Given the description of an element on the screen output the (x, y) to click on. 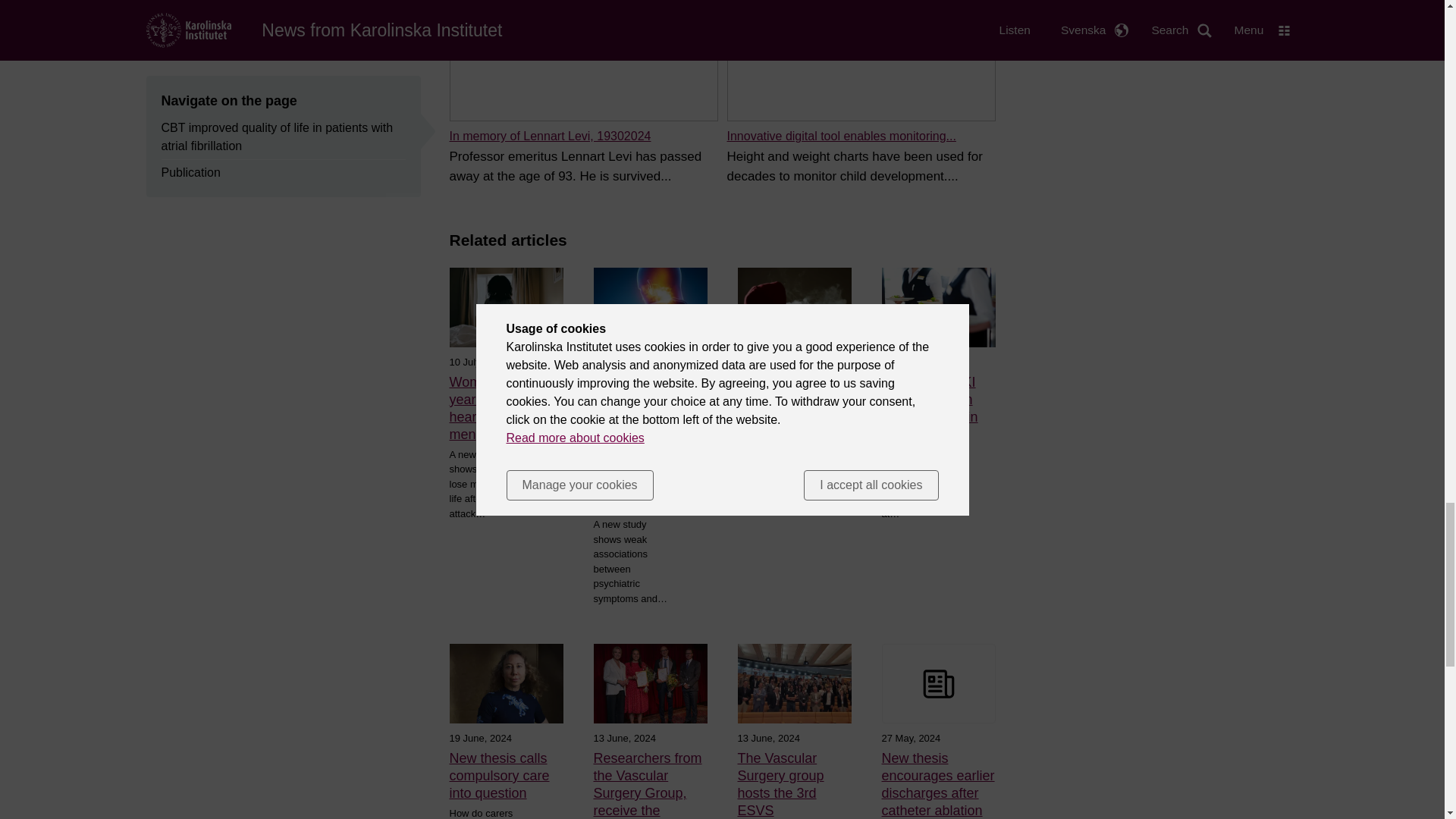
Women lose more years of life after a heart attack than men (505, 408)
New grant to KI researchers on mental health in working life (937, 408)
New thesis calls compulsory care into question (505, 776)
Innovative digital tool enables monitoring... (840, 135)
In memory of Lennart Levi, 19302024 (549, 135)
Innovative digital tool enables monitoring... (840, 135)
In memory of Lennart Levi, 19302024 (549, 135)
Nicotine in a new guise (793, 390)
